Given the description of an element on the screen output the (x, y) to click on. 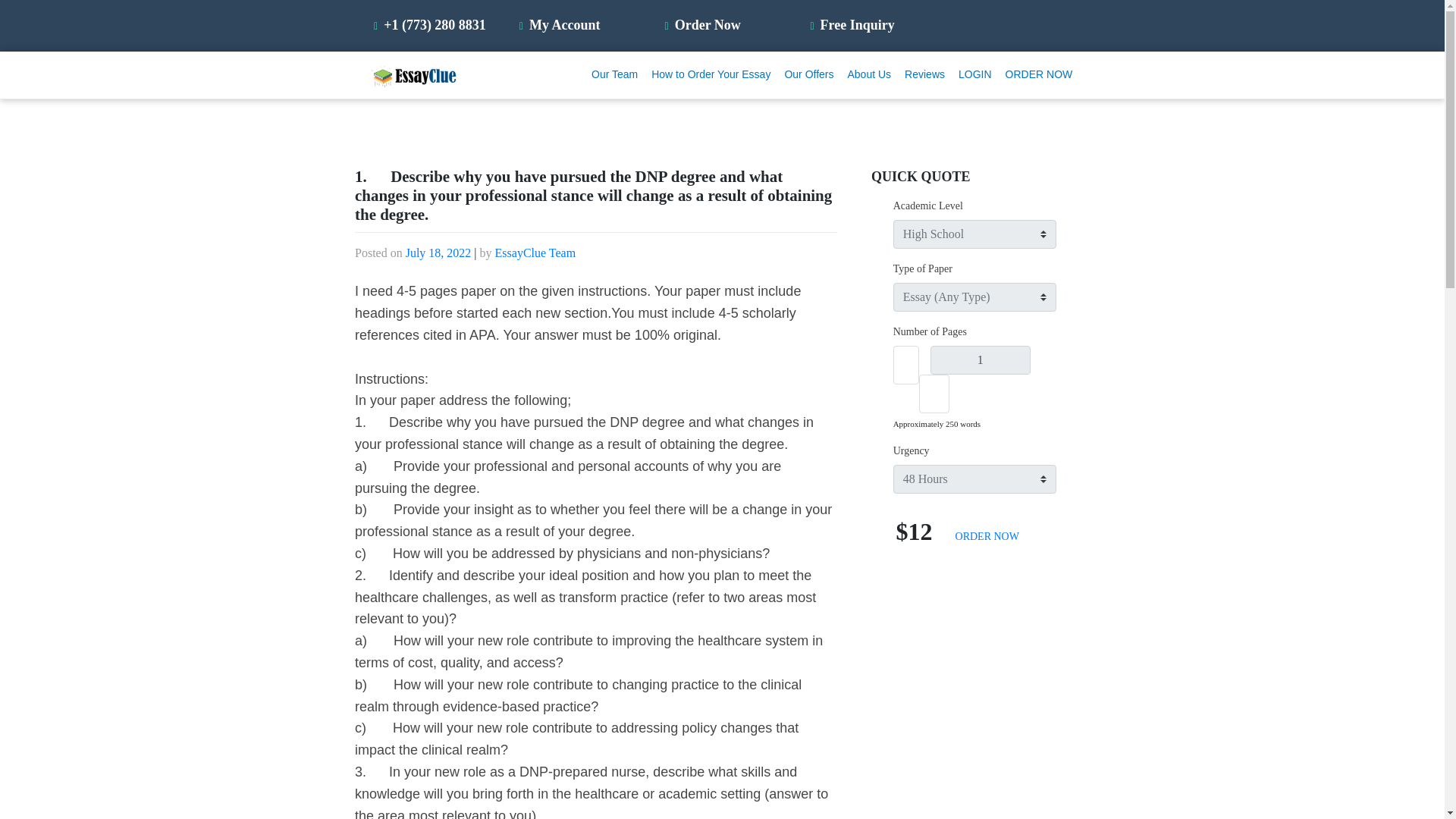
How to Order Your Essay (711, 74)
Our Team (615, 74)
My Account (560, 24)
Our Offers (809, 74)
ORDER NOW (987, 536)
Our Team (615, 74)
Reviews (925, 74)
ORDER NOW (1039, 74)
July 18, 2022 (438, 252)
ORDER NOW (1039, 74)
